Given the description of an element on the screen output the (x, y) to click on. 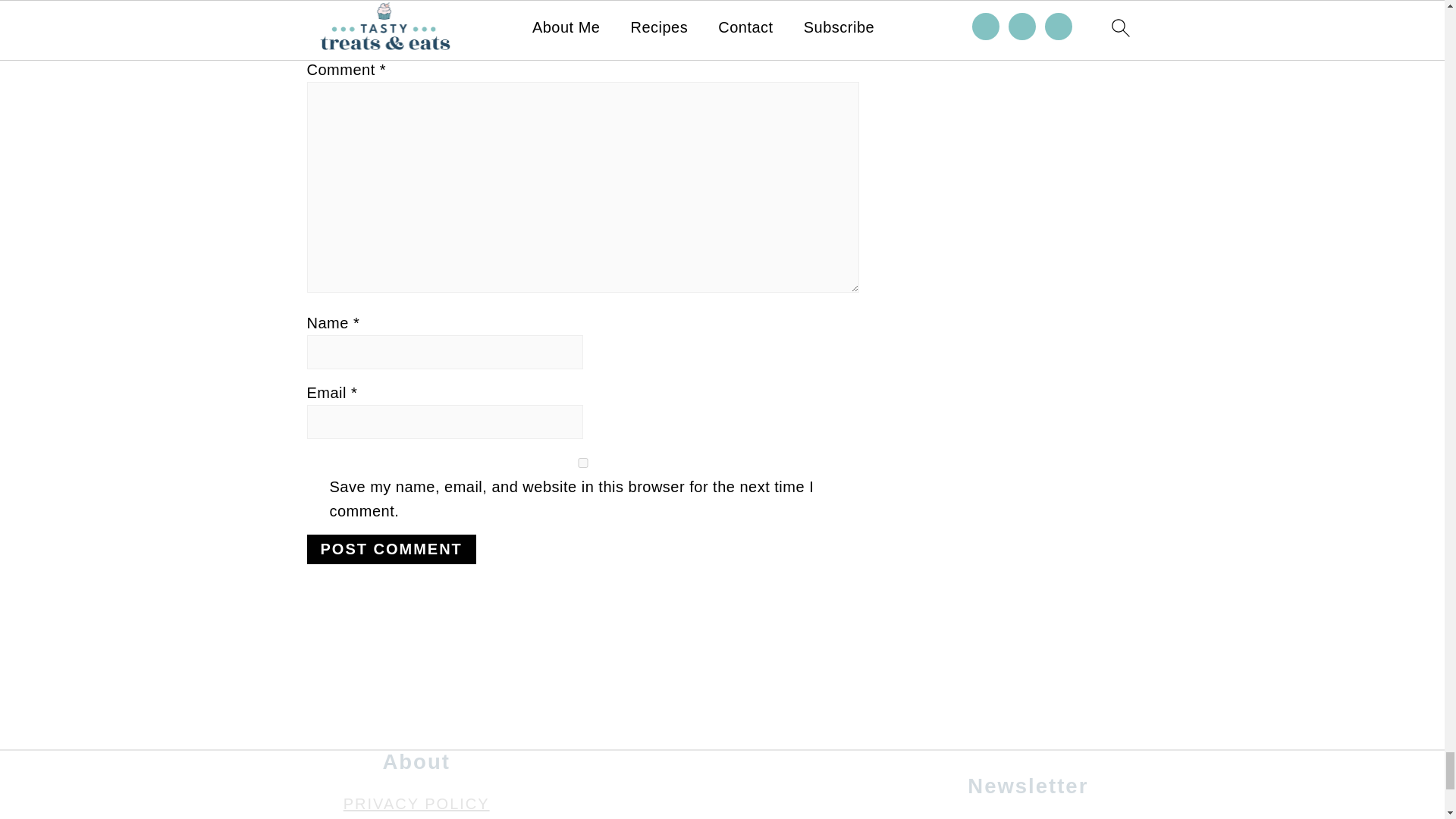
Post Comment (390, 549)
yes (582, 462)
